Given the description of an element on the screen output the (x, y) to click on. 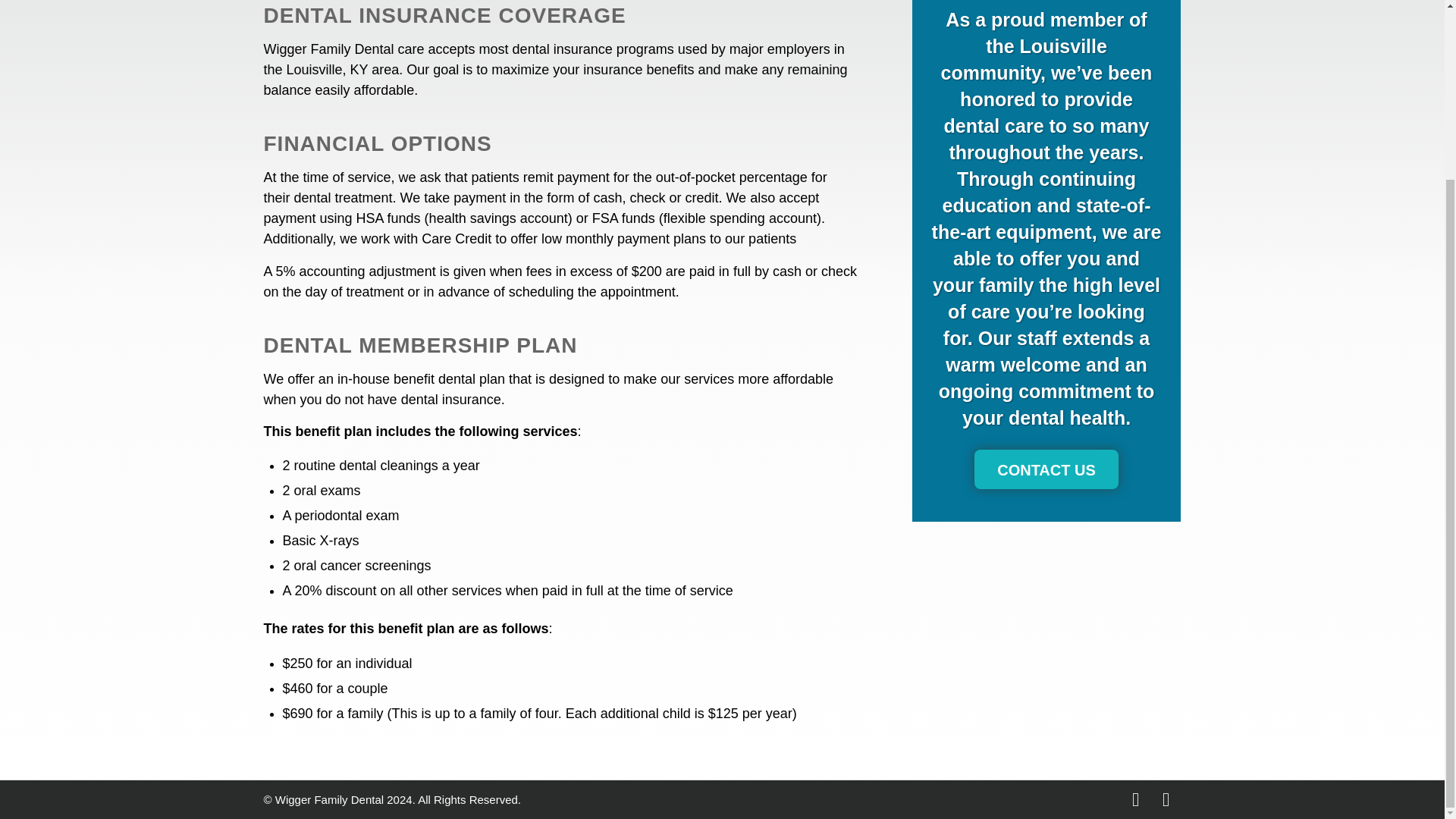
CONTACT US (1046, 468)
Facebook (1136, 798)
Googlemybusiness (1165, 798)
